Given the description of an element on the screen output the (x, y) to click on. 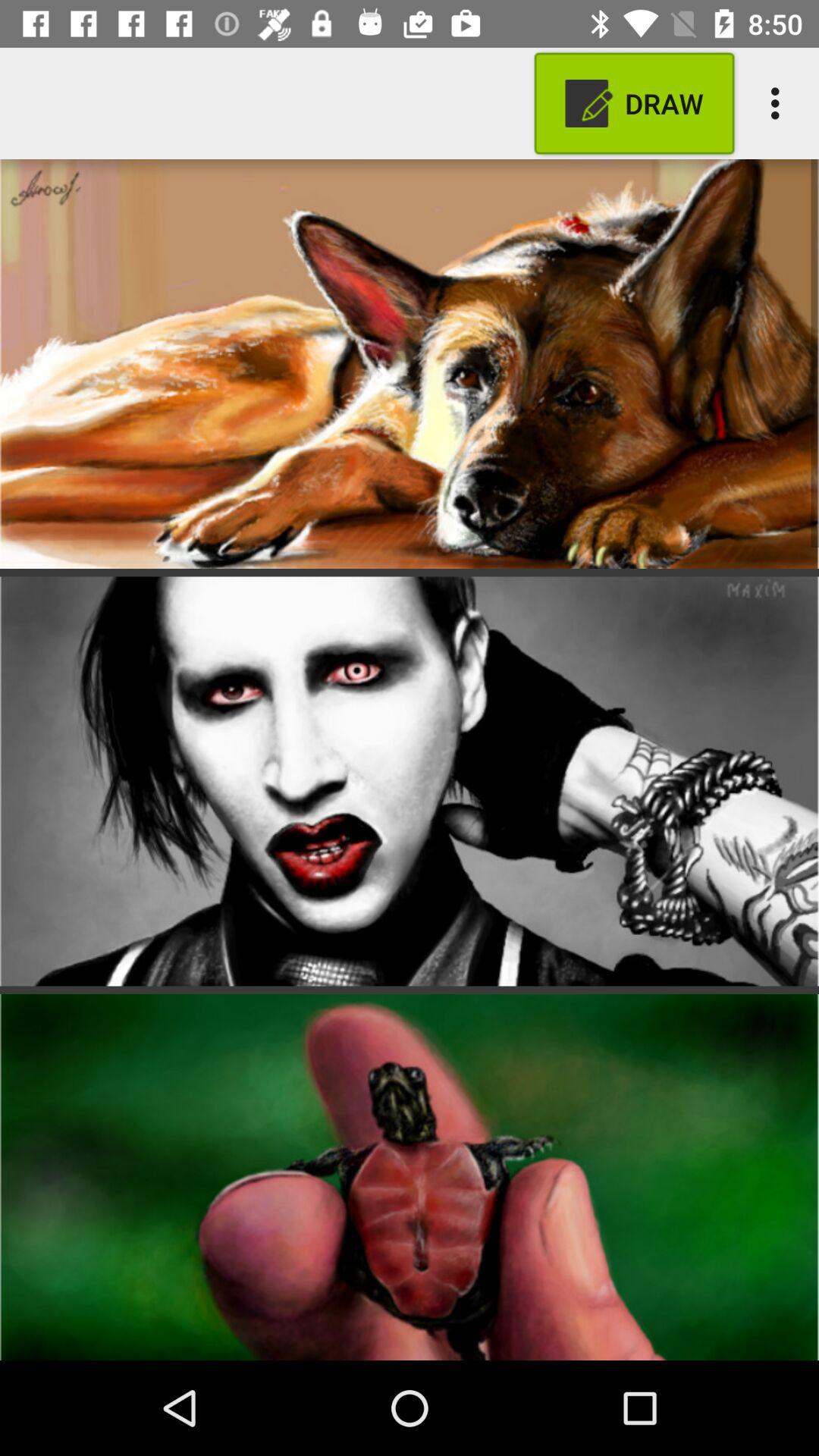
jump until the draw item (634, 103)
